Given the description of an element on the screen output the (x, y) to click on. 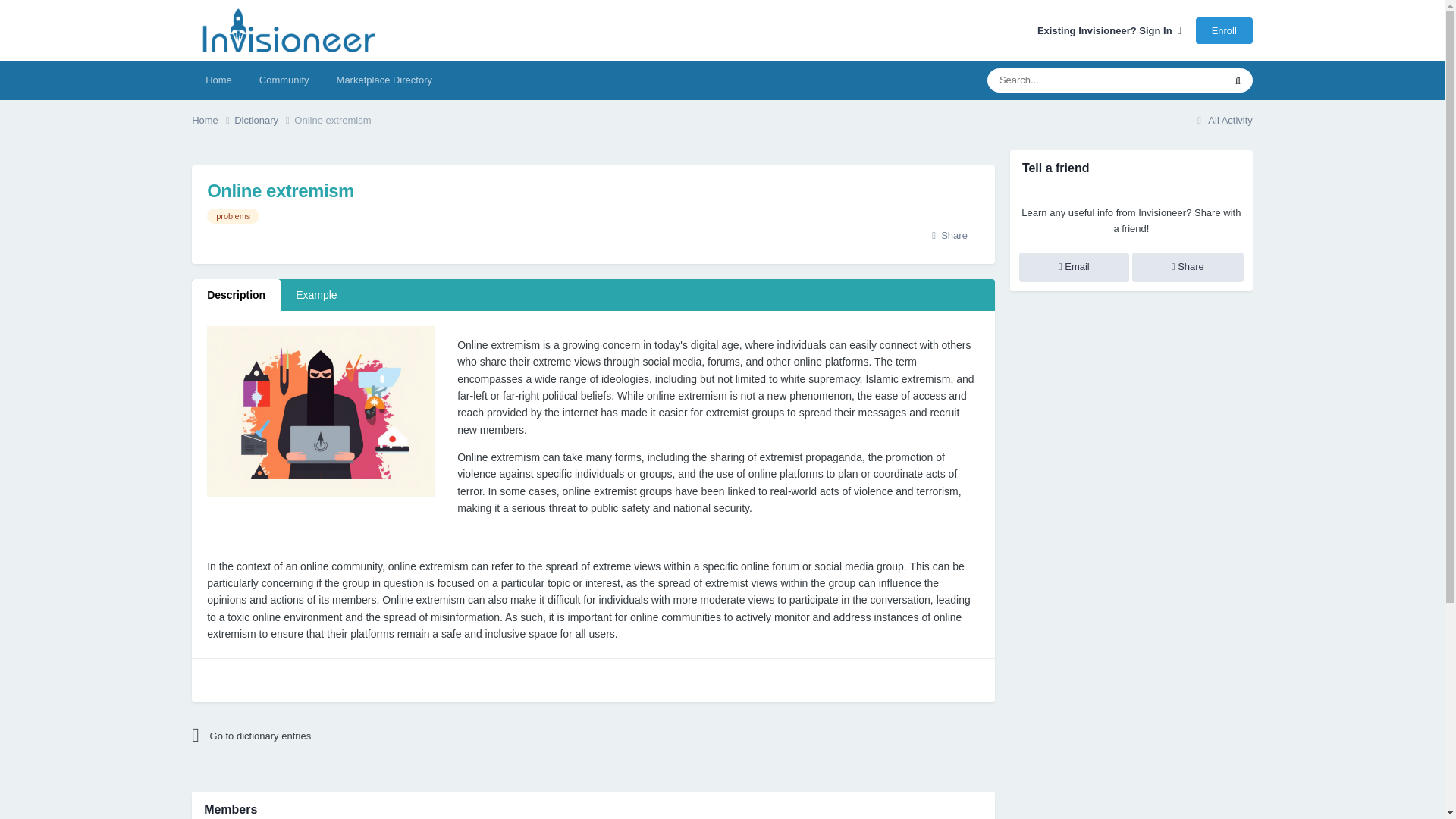
Marketplace Directory (384, 79)
Enroll (1223, 29)
Go to Dictionary (324, 736)
problems (232, 215)
Community (284, 79)
Home (213, 120)
Home (213, 120)
Existing Invisioneer? Sign In   (1108, 30)
All Activity (1222, 120)
Go to dictionary entries (324, 736)
